Given the description of an element on the screen output the (x, y) to click on. 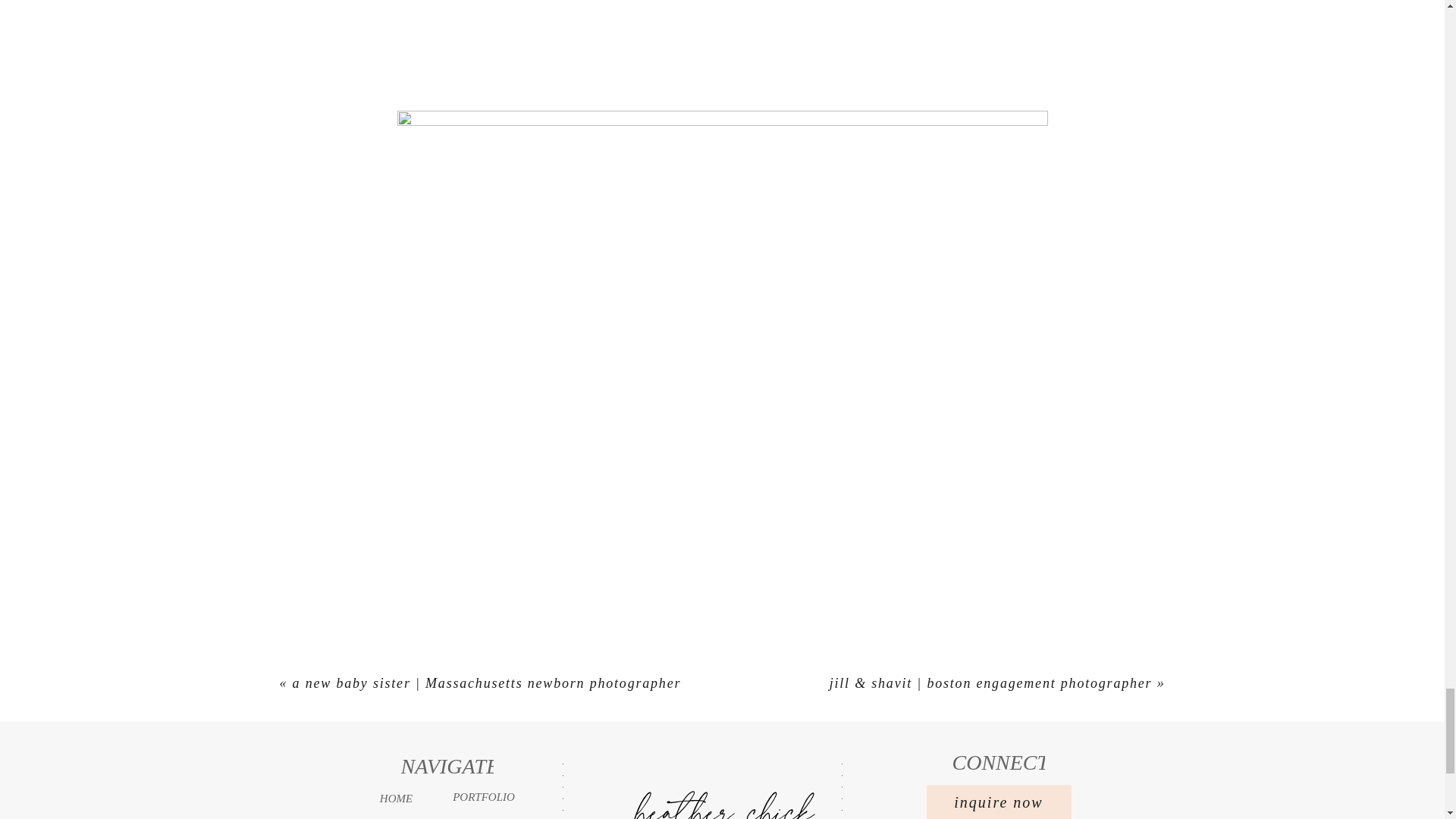
inquire now (998, 794)
ABOUT (394, 816)
PORTFOLIO (483, 796)
HOME (395, 797)
BLOG (482, 816)
